Given the description of an element on the screen output the (x, y) to click on. 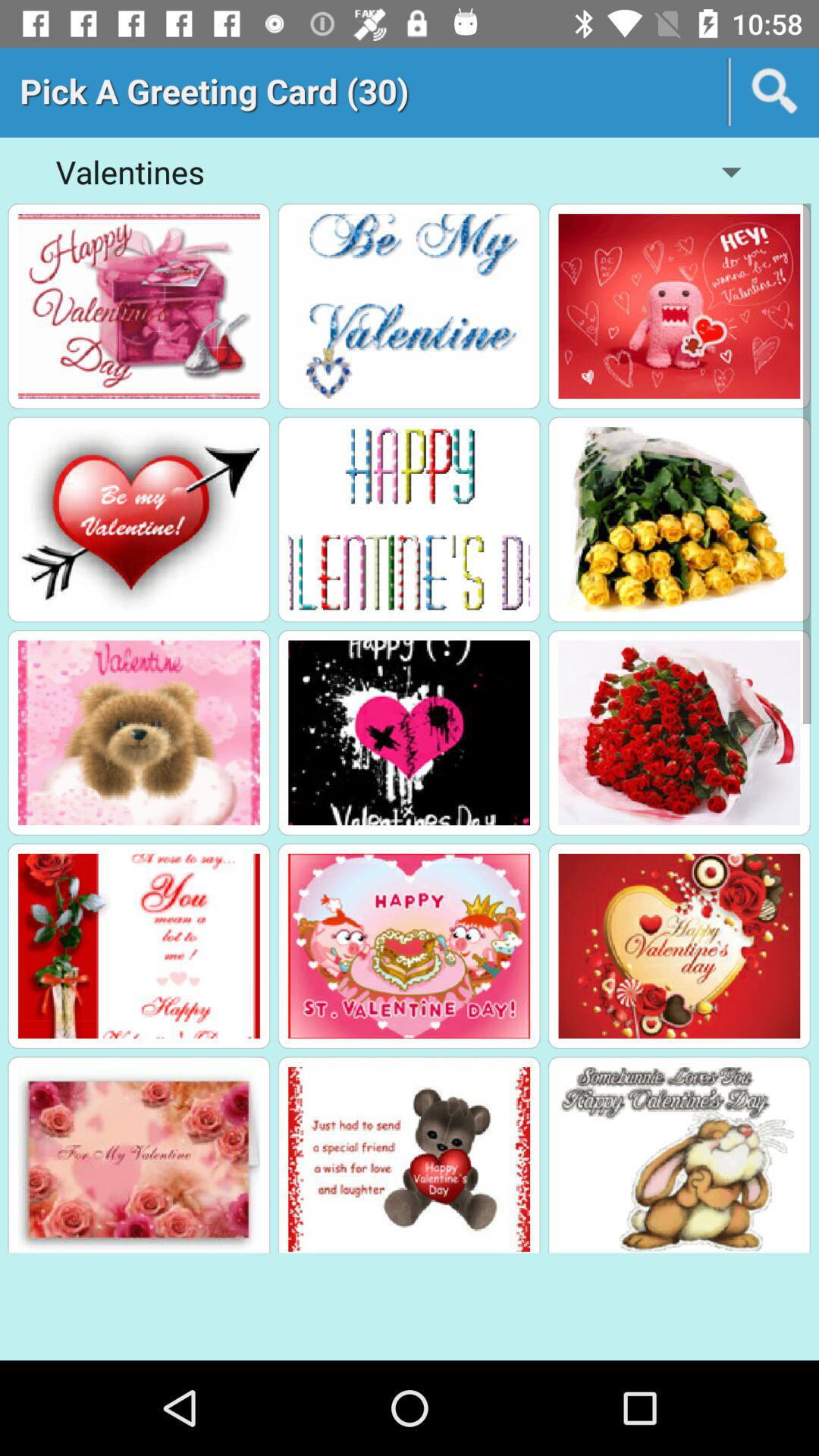
search (774, 91)
